Given the description of an element on the screen output the (x, y) to click on. 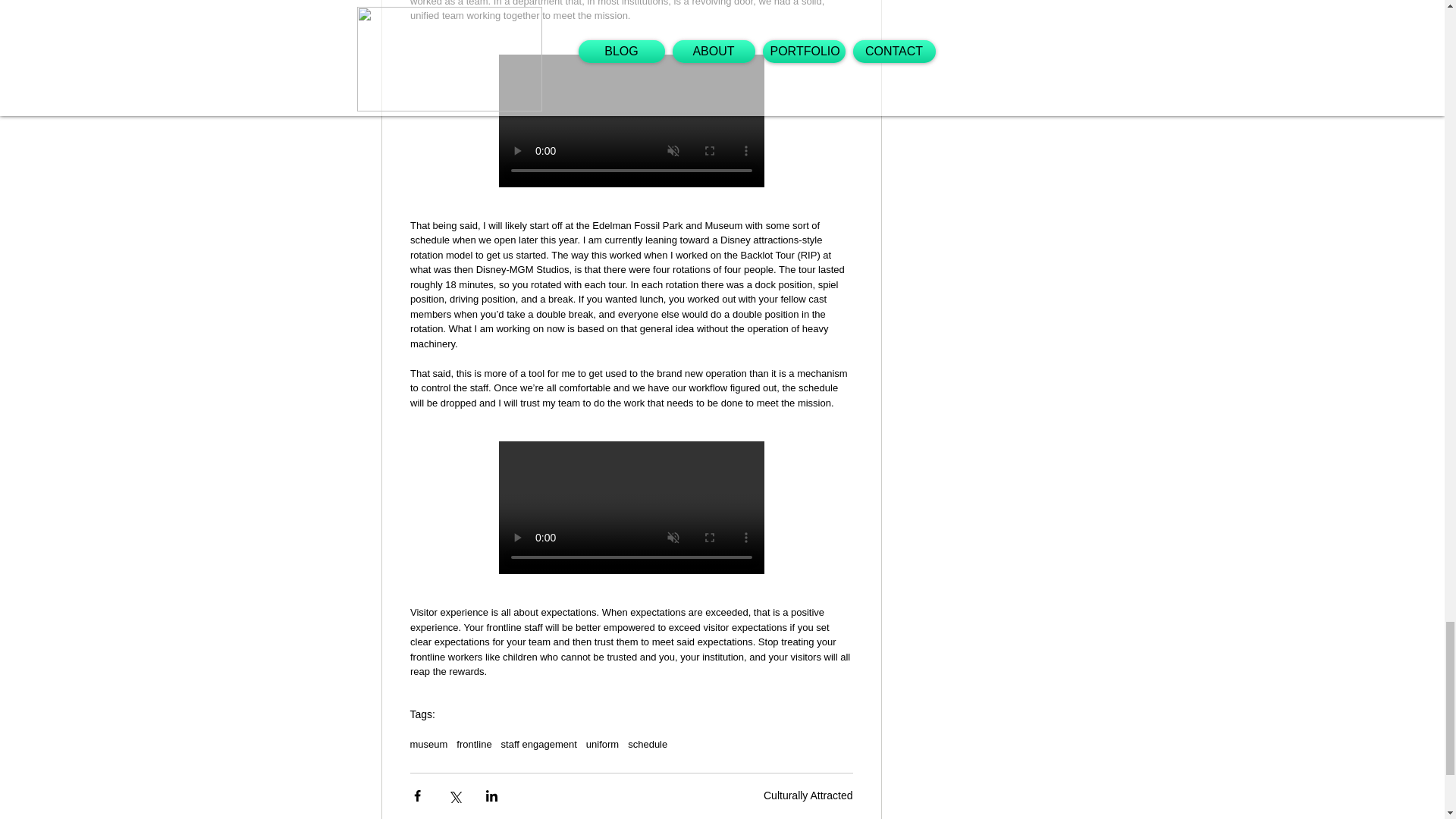
museum (427, 744)
schedule (646, 744)
Culturally Attracted (807, 795)
staff engagement (538, 744)
frontline (474, 744)
uniform (602, 744)
